Given the description of an element on the screen output the (x, y) to click on. 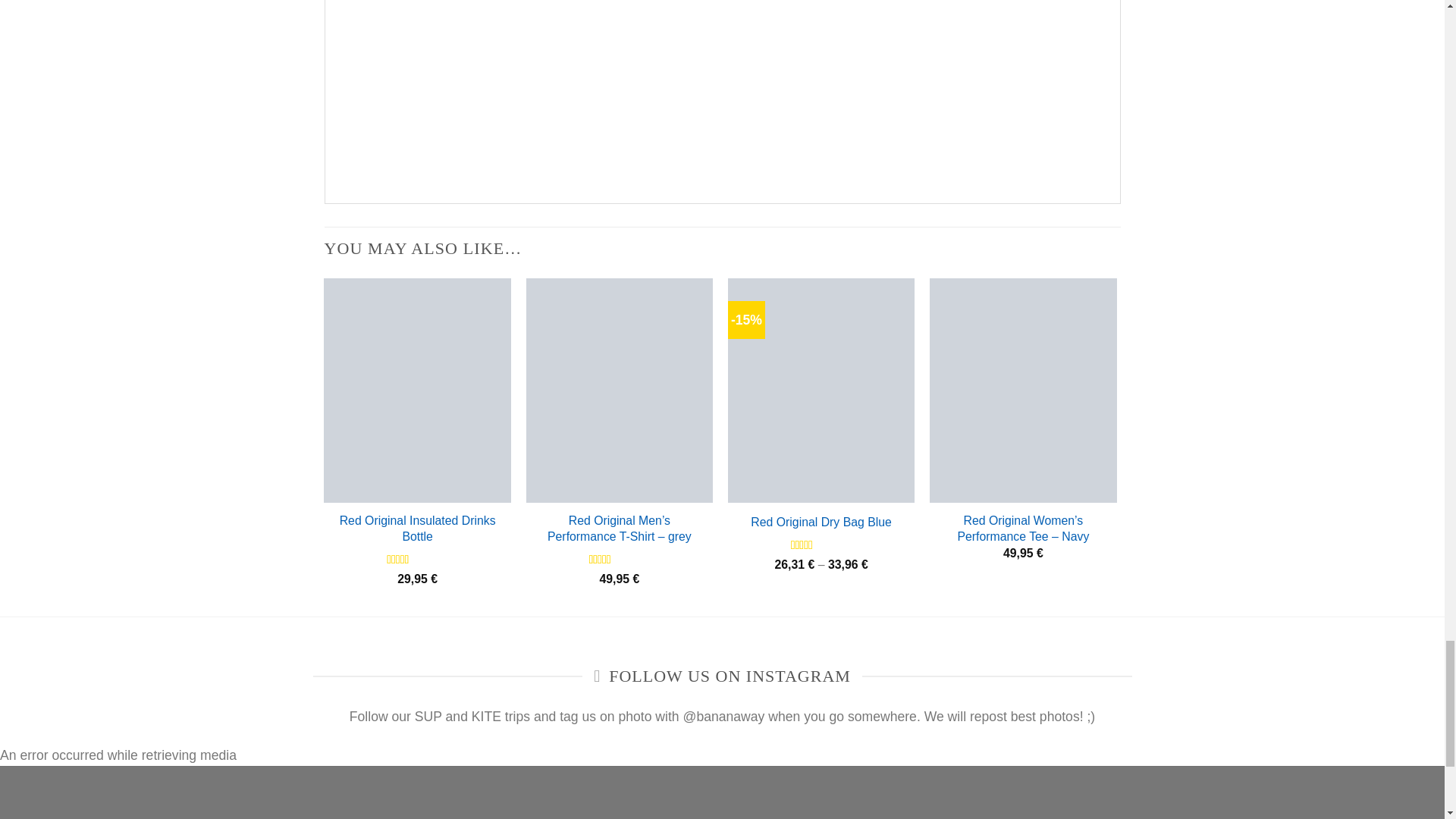
Leaders in Design (721, 79)
